Given the description of an element on the screen output the (x, y) to click on. 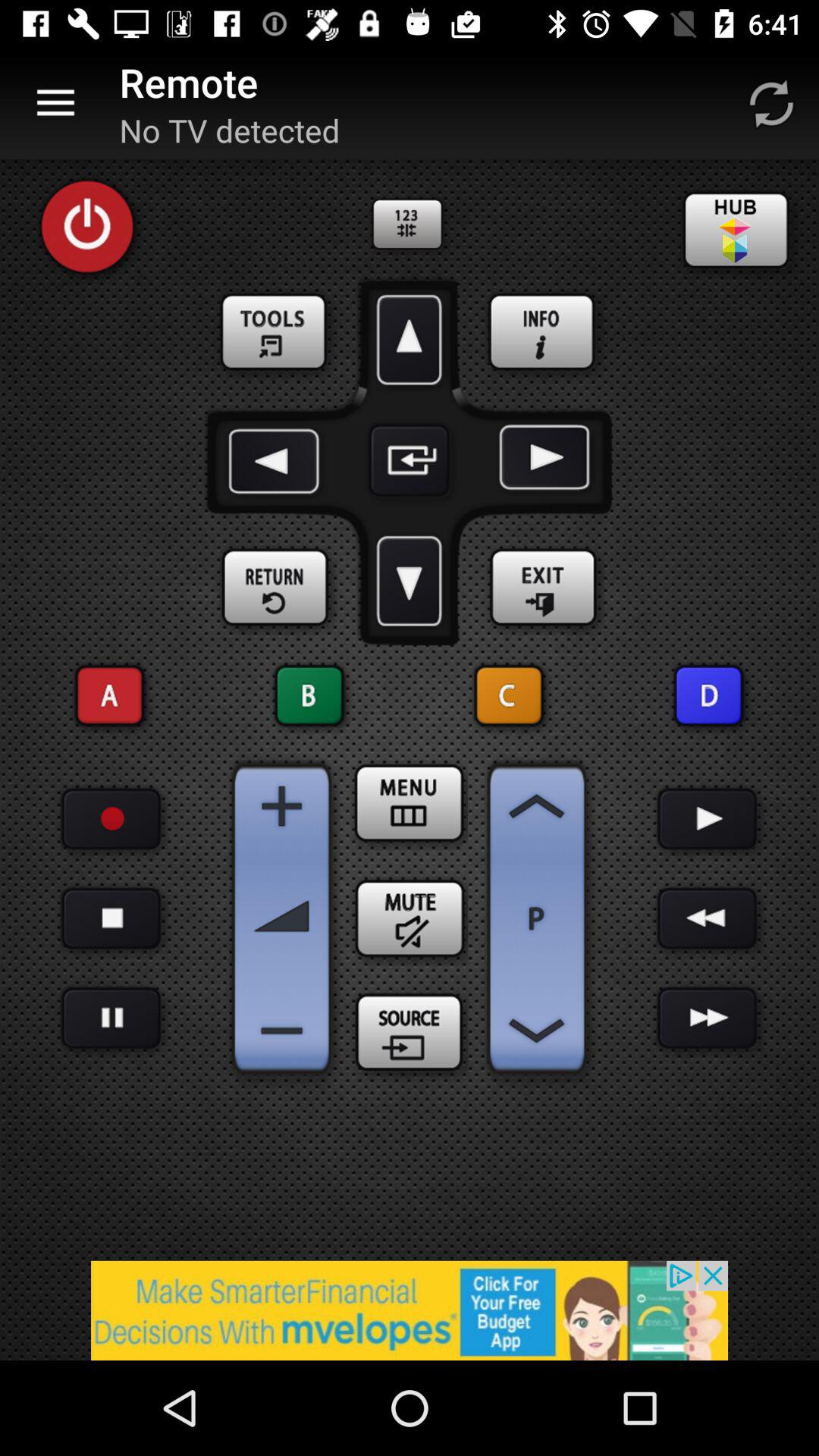
go back (276, 460)
